Given the description of an element on the screen output the (x, y) to click on. 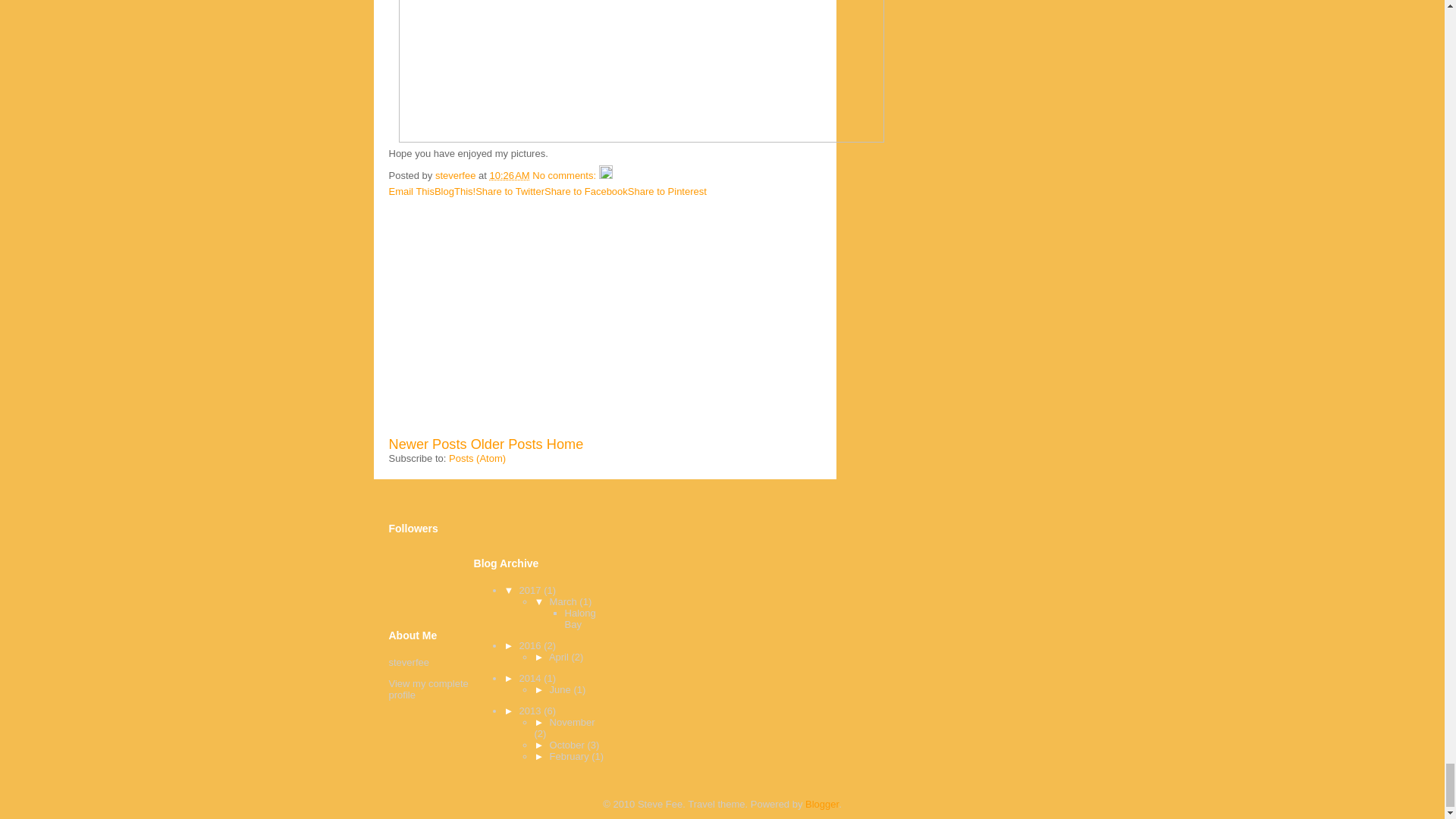
Share to Pinterest (666, 191)
Email This (410, 191)
Share to Facebook (585, 191)
Edit Post (605, 174)
BlogThis! (454, 191)
Older Posts (506, 444)
author profile (457, 174)
permanent link (509, 174)
Share to Twitter (510, 191)
Newer Posts (426, 444)
